Given the description of an element on the screen output the (x, y) to click on. 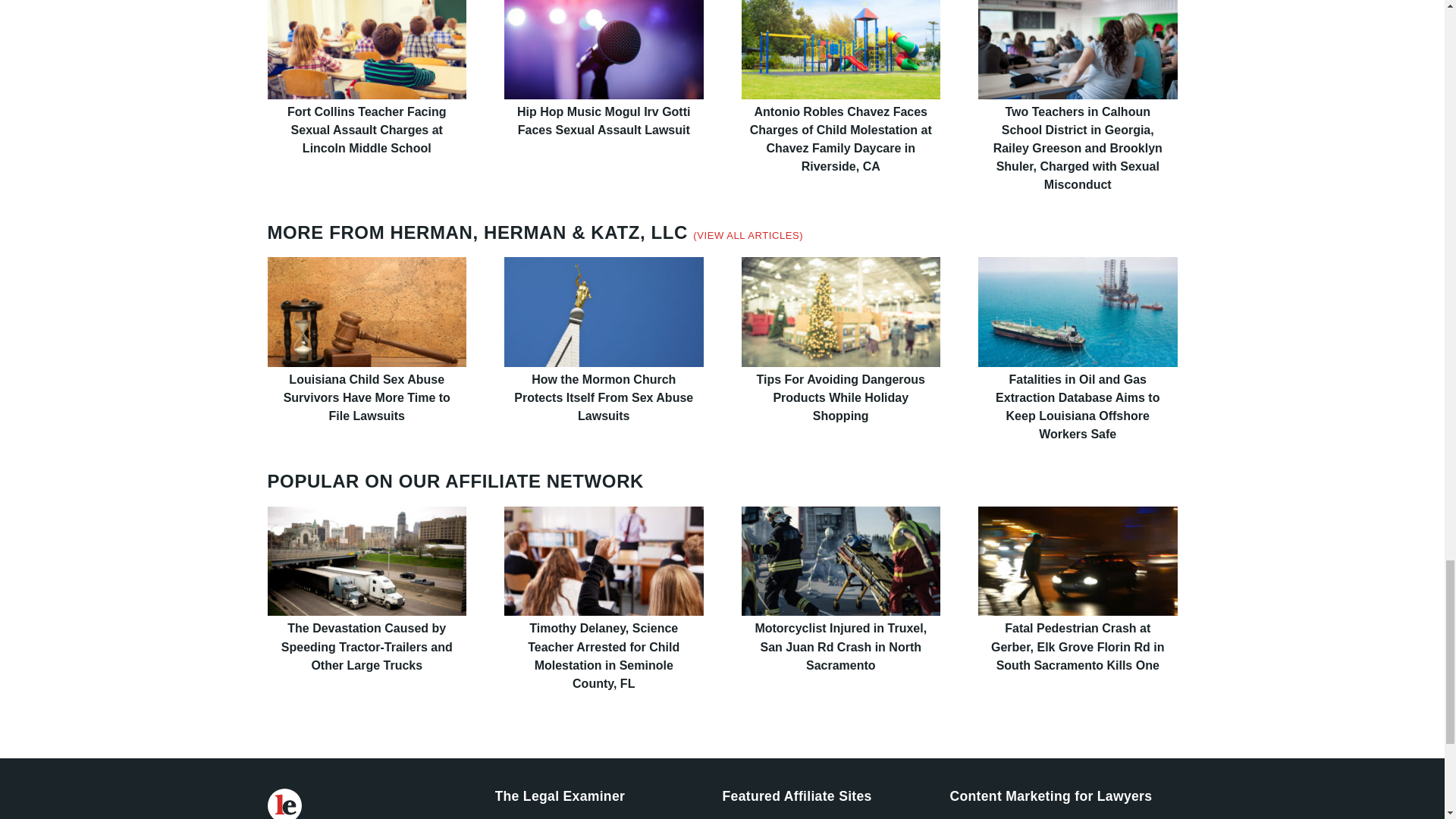
Hip Hop Music Mogul Irv Gotti Faces Sexual Assault Lawsuit (603, 49)
Tips For Avoiding Dangerous Products While Holiday Shopping (840, 311)
